Given the description of an element on the screen output the (x, y) to click on. 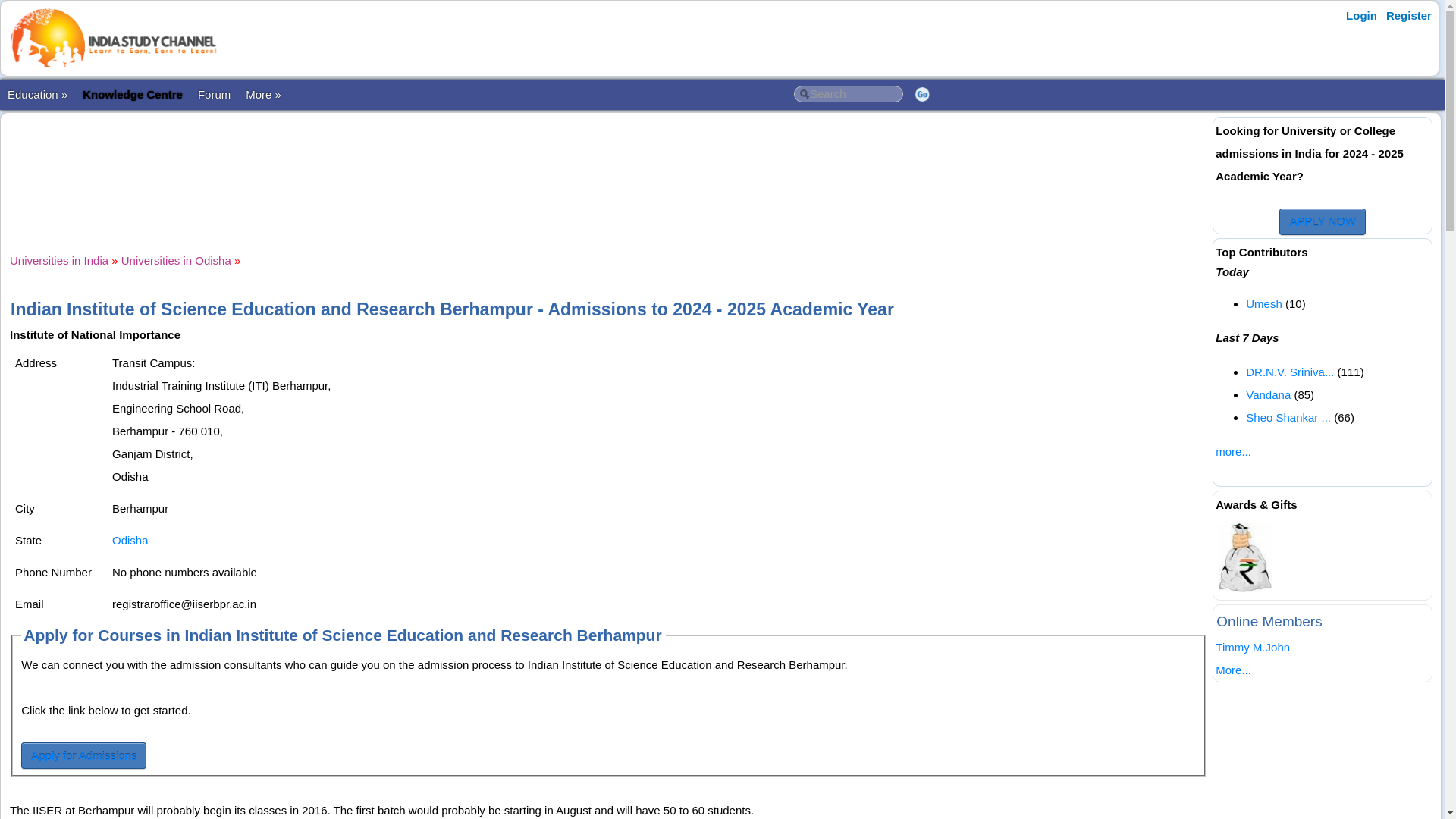
Universities in India (58, 259)
Knowledge Centre (132, 94)
Search (847, 93)
Apply for Admissions (84, 755)
Odisha (130, 540)
Login (1361, 15)
Universities in Odisha (175, 259)
Universities in Odisha (175, 259)
Universities in India (58, 259)
Register (1409, 15)
Advertisement (609, 169)
Forum (214, 94)
Search (847, 93)
